Given the description of an element on the screen output the (x, y) to click on. 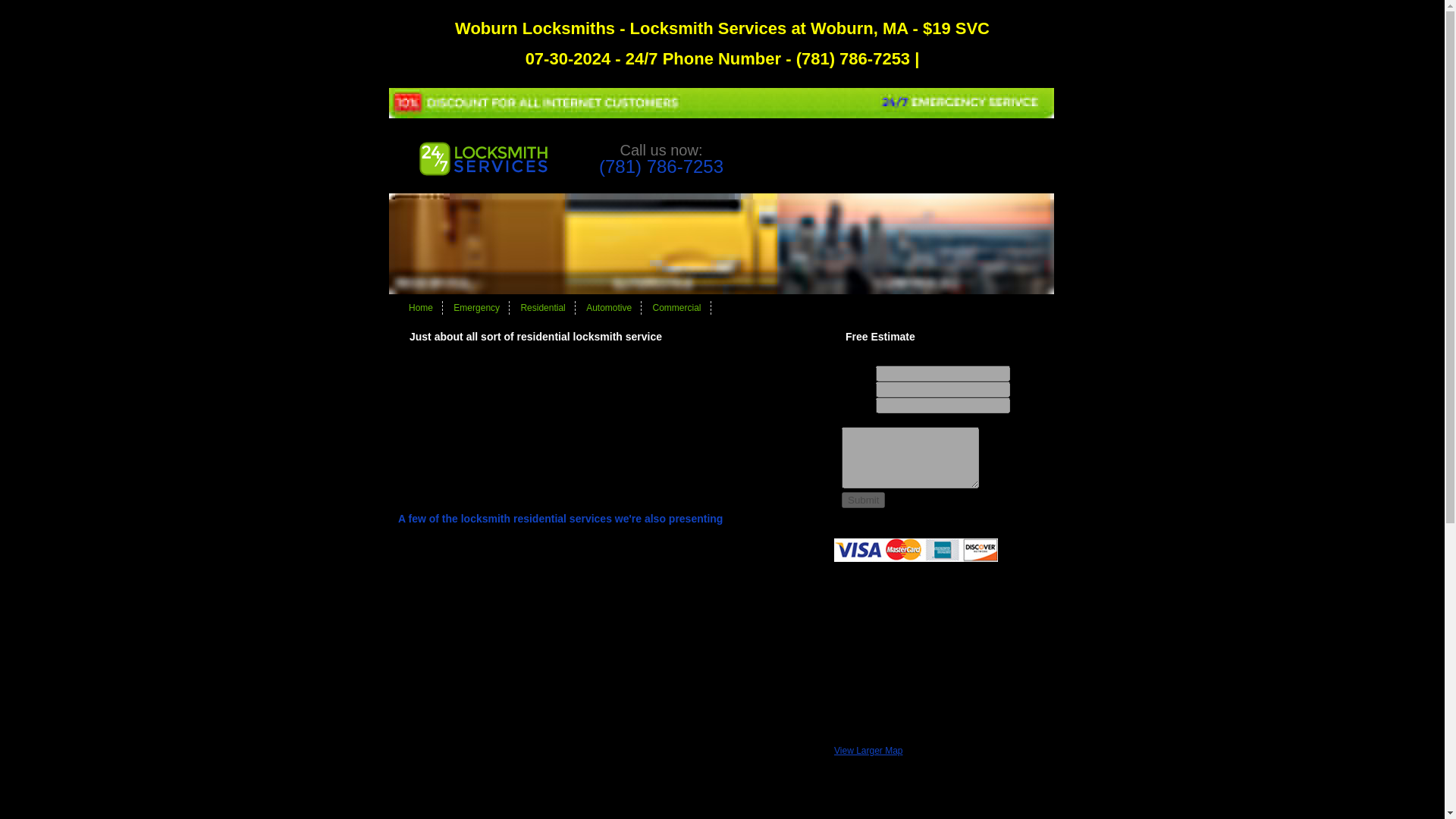
Woburn Locksmiths (483, 172)
Commercial Locksmith (676, 307)
Submit (863, 499)
View Larger Map (868, 750)
Automotive Locksmith (608, 307)
Woburn Locksmiths (721, 290)
Home (420, 307)
Commercial (676, 307)
Automotive (608, 307)
Emergency (475, 307)
Home (420, 307)
Residential (541, 307)
View Larger Map of Woburn, MA (868, 750)
Submit (863, 499)
Residential Locksmith (541, 307)
